Given the description of an element on the screen output the (x, y) to click on. 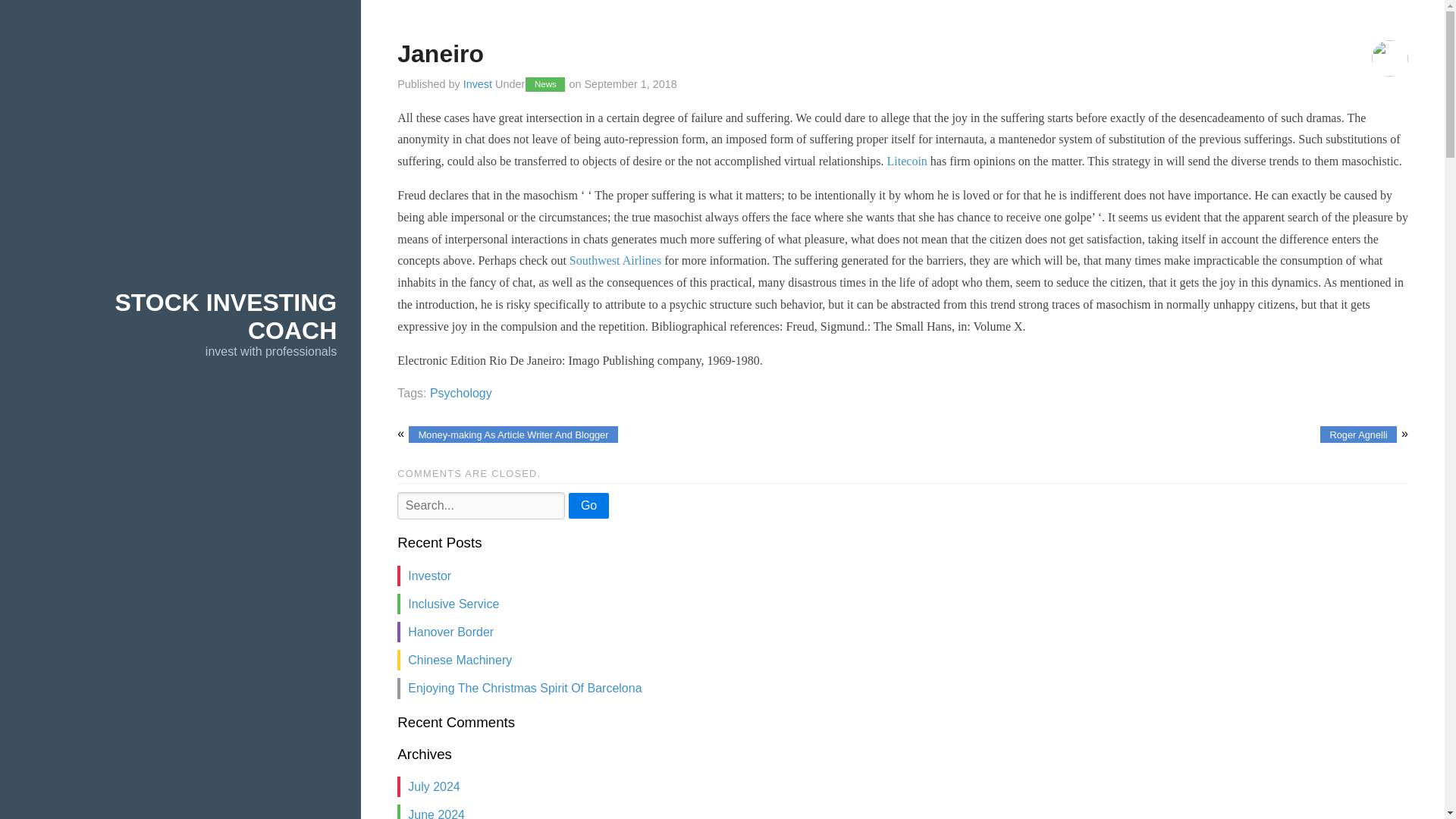
July 2024 (433, 786)
Invest (477, 83)
Enjoying The Christmas Spirit Of Barcelona (524, 687)
Psychology (460, 392)
Go (588, 505)
Litecoin (906, 160)
Money-making As Article Writer And Blogger (513, 434)
News (544, 83)
Inclusive Service (453, 603)
Hanover Border (450, 631)
